Given the description of an element on the screen output the (x, y) to click on. 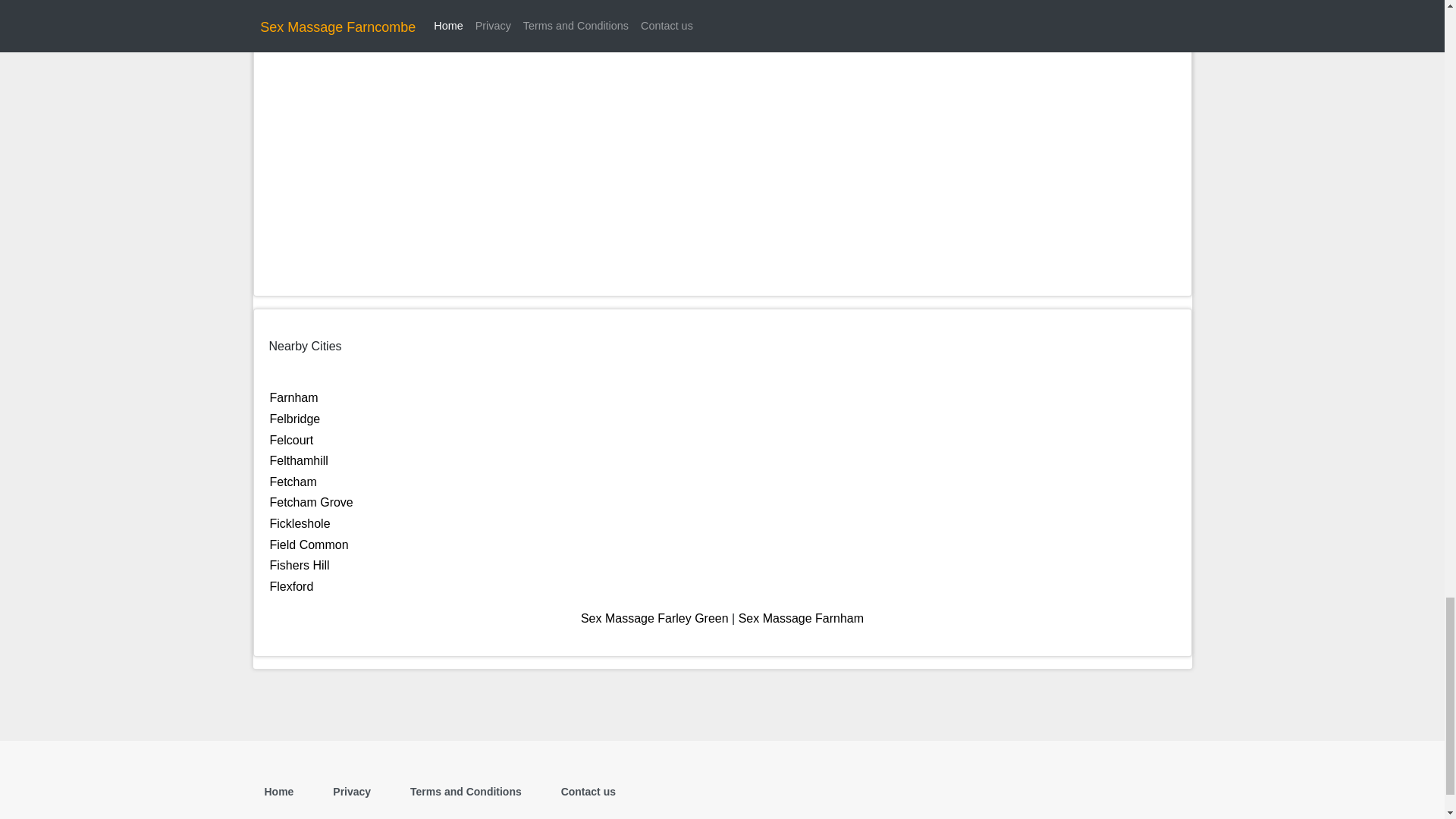
Field Common (309, 544)
Felbridge (294, 418)
Farnham (293, 397)
Flexford (291, 585)
Sex Massage Farnham (800, 617)
Felthamhill (299, 460)
Fetcham (293, 481)
Fetcham Grove (311, 502)
Sex Massage Farley Green (654, 617)
Fickleshole (299, 522)
Fishers Hill (299, 564)
Felcourt (291, 440)
